Given the description of an element on the screen output the (x, y) to click on. 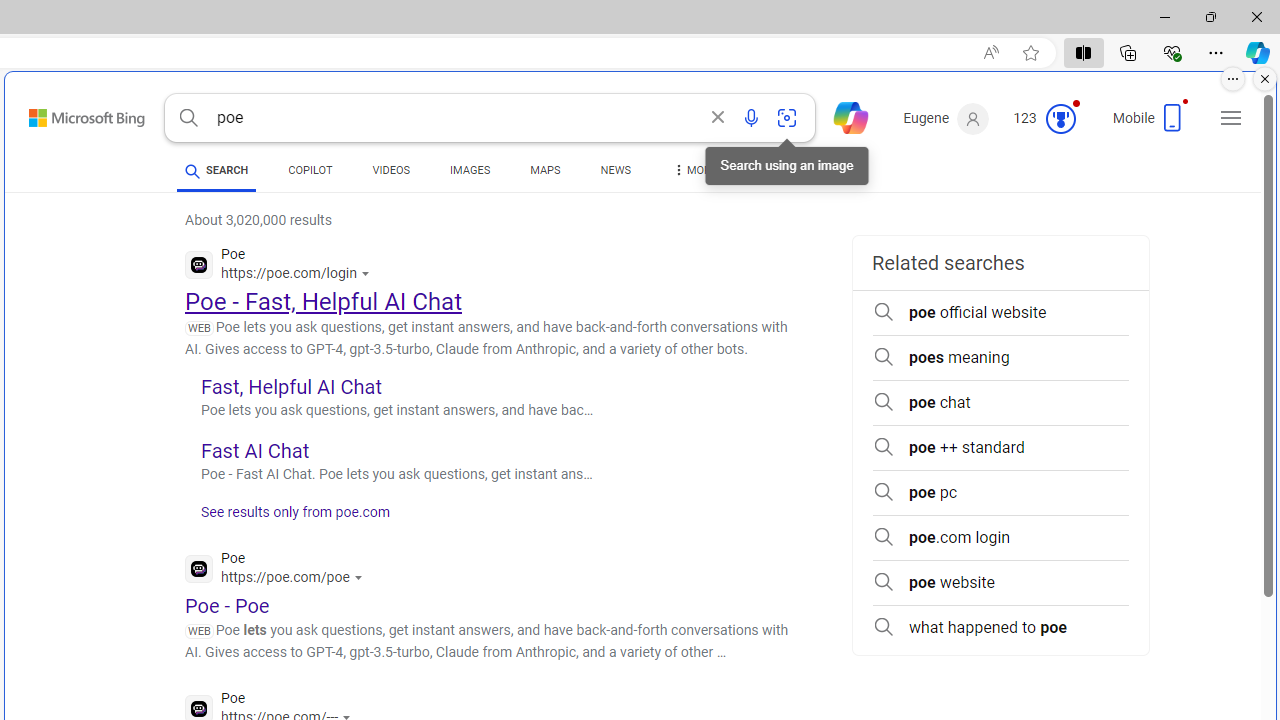
poe website (1000, 582)
poe chat (1000, 402)
poe ++ standard (1000, 448)
Search button (188, 117)
Poe - Poe (227, 605)
Search using an image (787, 117)
VIDEOS (390, 170)
More options. (1233, 79)
SEARCH (216, 170)
